Given the description of an element on the screen output the (x, y) to click on. 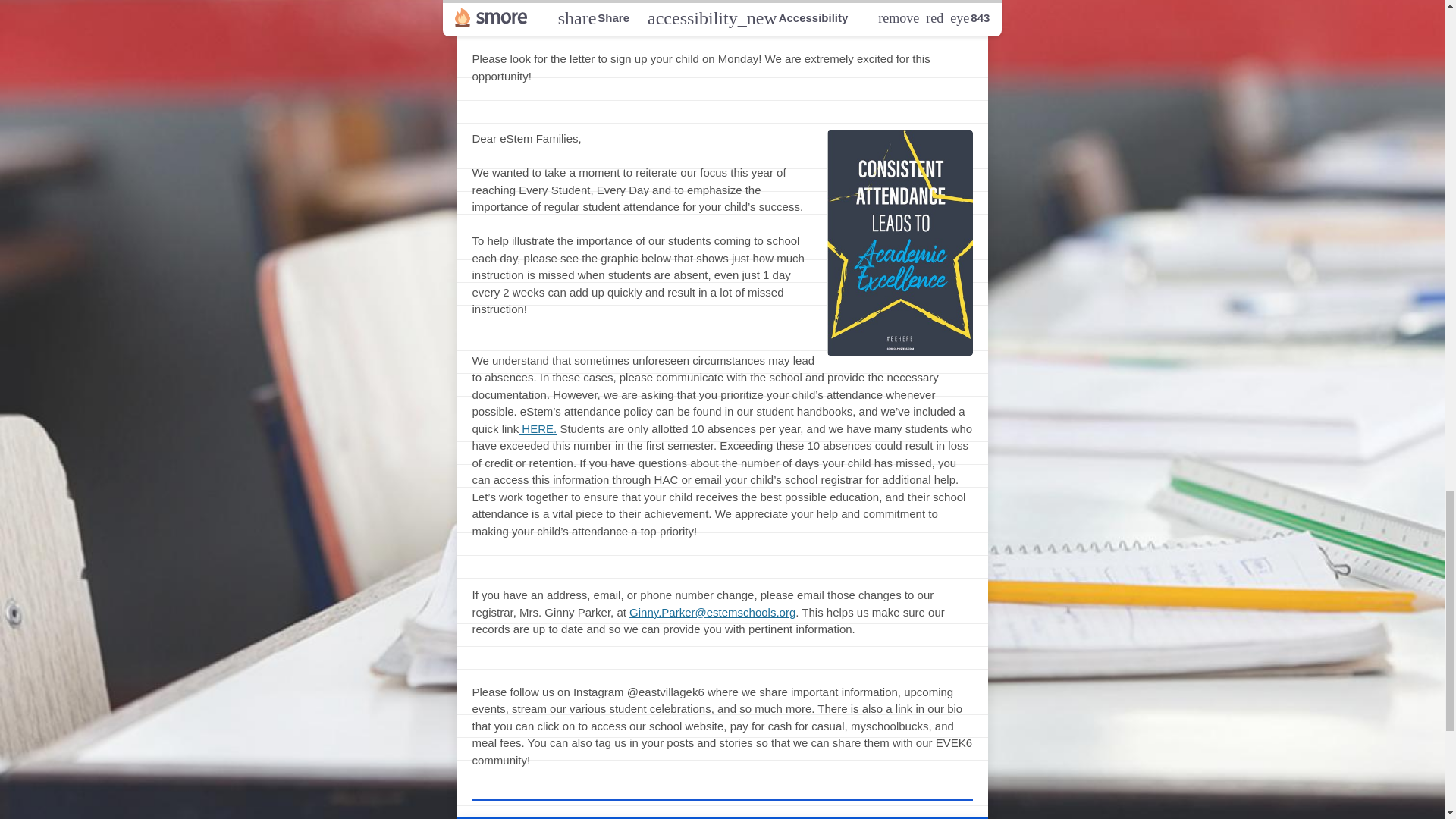
HERE. (537, 428)
